Given the description of an element on the screen output the (x, y) to click on. 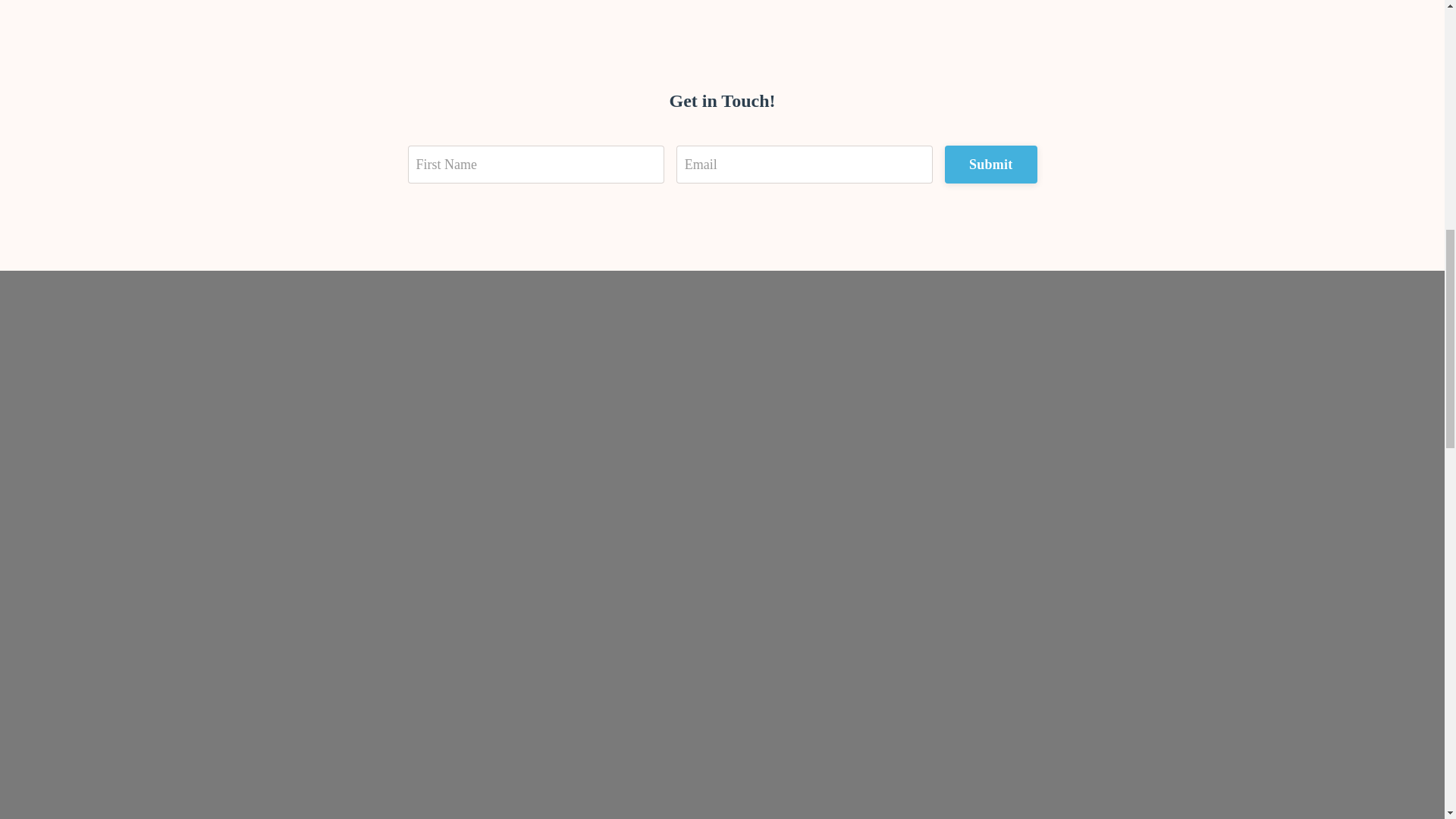
Submit (990, 164)
